Given the description of an element on the screen output the (x, y) to click on. 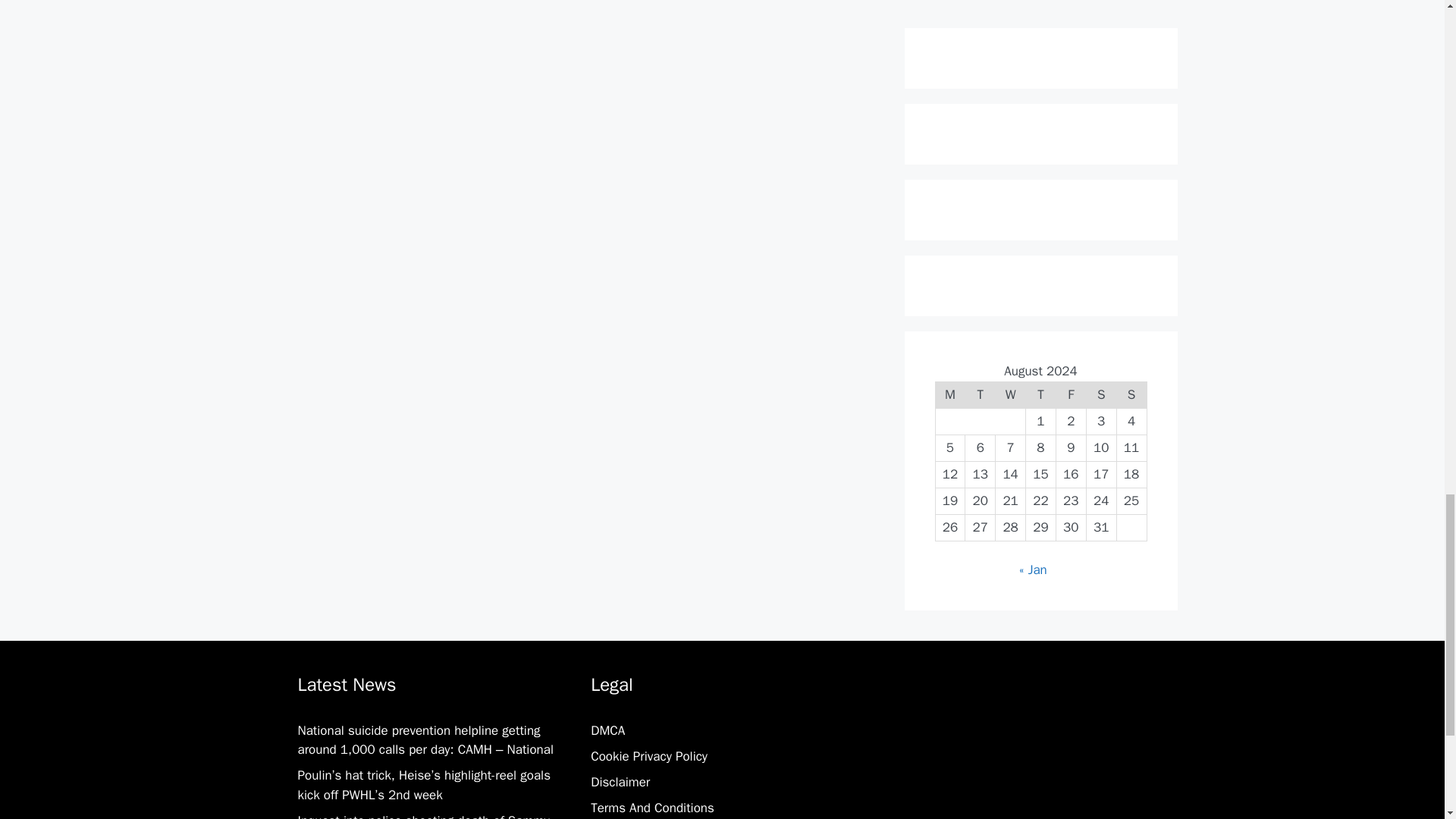
Wednesday (1010, 394)
Tuesday (980, 394)
Saturday (1101, 394)
Thursday (1041, 394)
Monday (949, 394)
Friday (1070, 394)
